Given the description of an element on the screen output the (x, y) to click on. 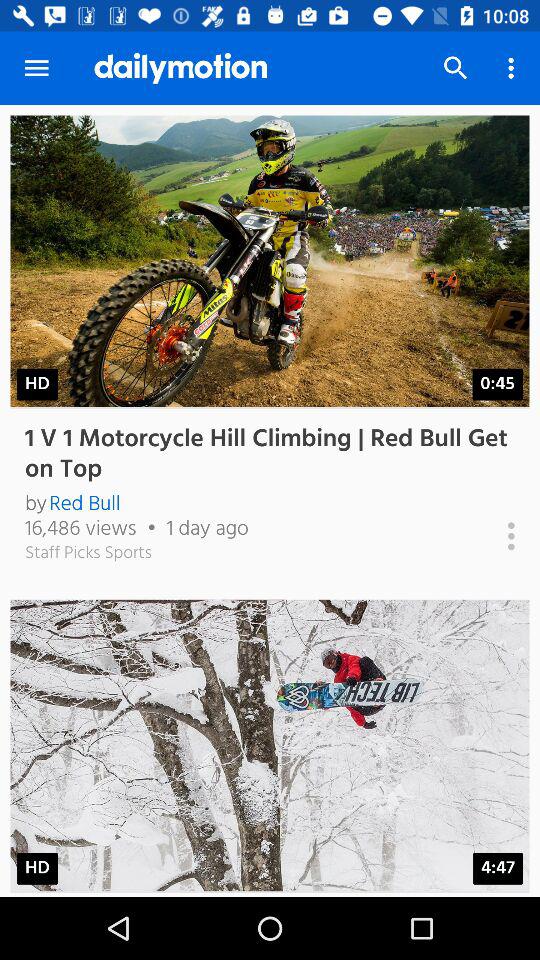
more information on 1 v 1 motorcycle hill climbing (490, 536)
